Given the description of an element on the screen output the (x, y) to click on. 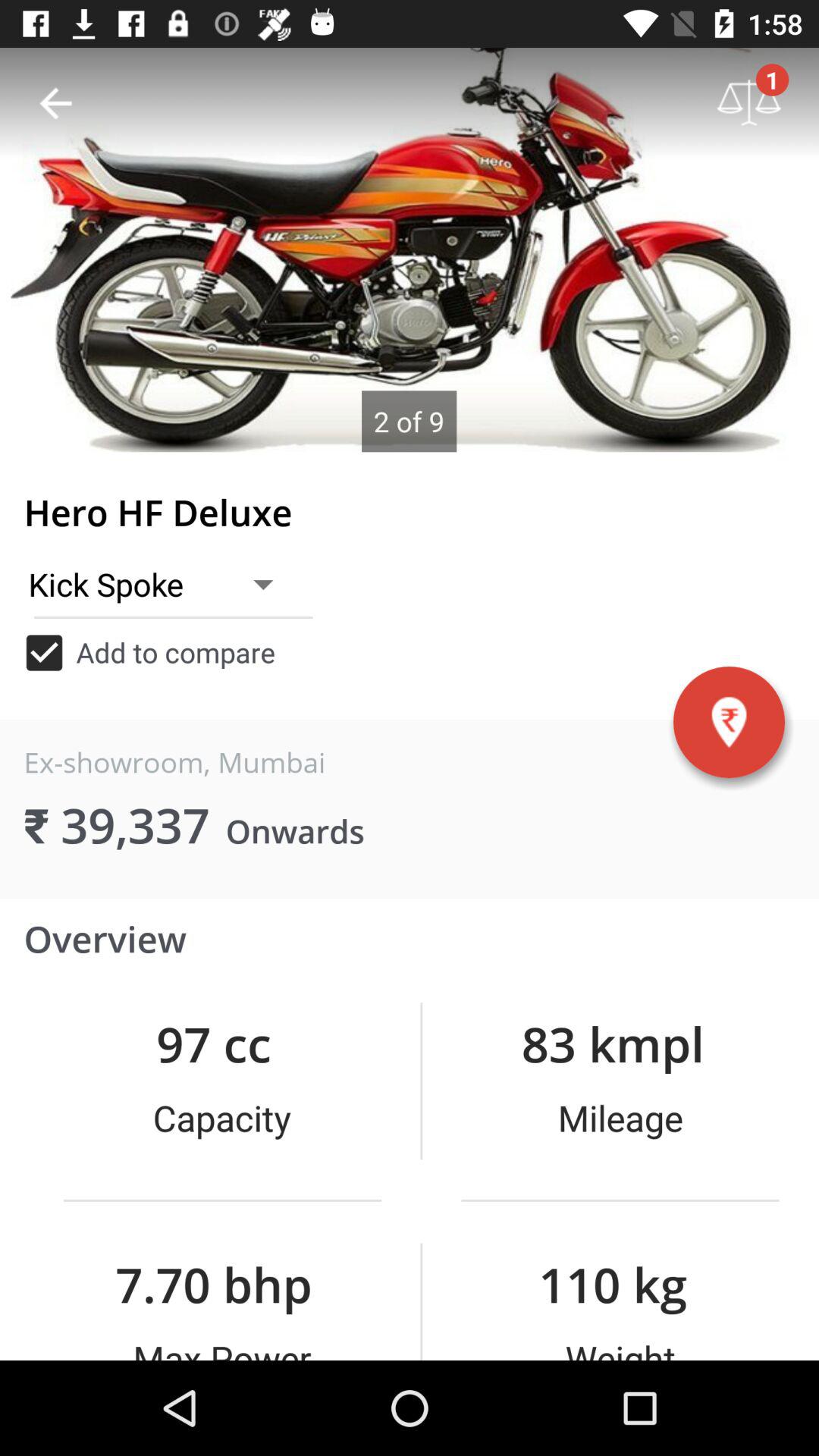
product image slideshow (409, 249)
